Given the description of an element on the screen output the (x, y) to click on. 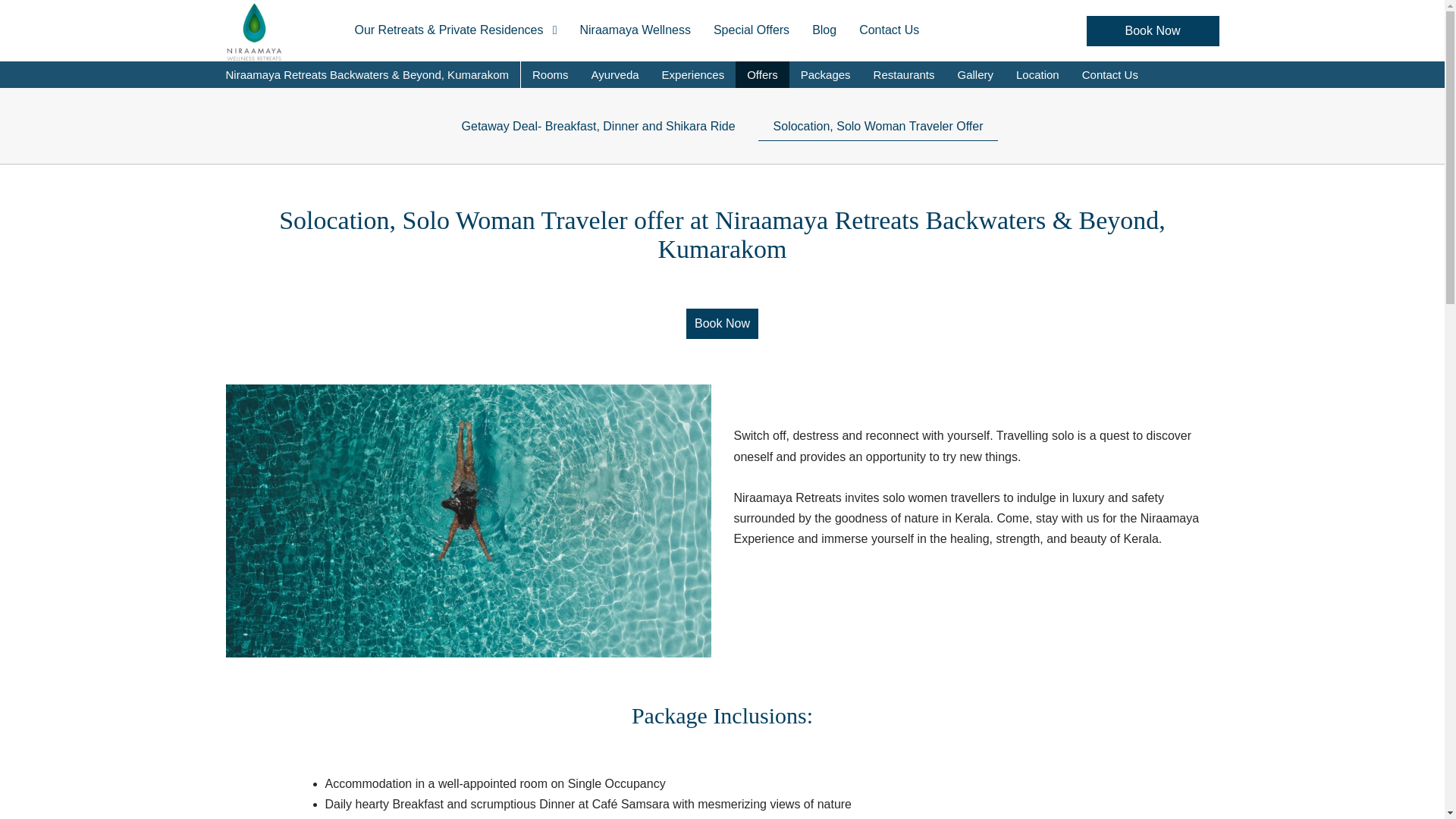
Contact Us (1110, 74)
Ayurveda (614, 74)
Getaway Deal- Breakfast, Dinner and Shikara Ride (598, 125)
Gallery (974, 74)
Niraamaya Wellness (635, 30)
Restaurants (903, 74)
Book Now (1152, 30)
Solocation, Solo Woman Traveler Offer (878, 125)
Rooms (550, 74)
Book Now (1152, 30)
